Given the description of an element on the screen output the (x, y) to click on. 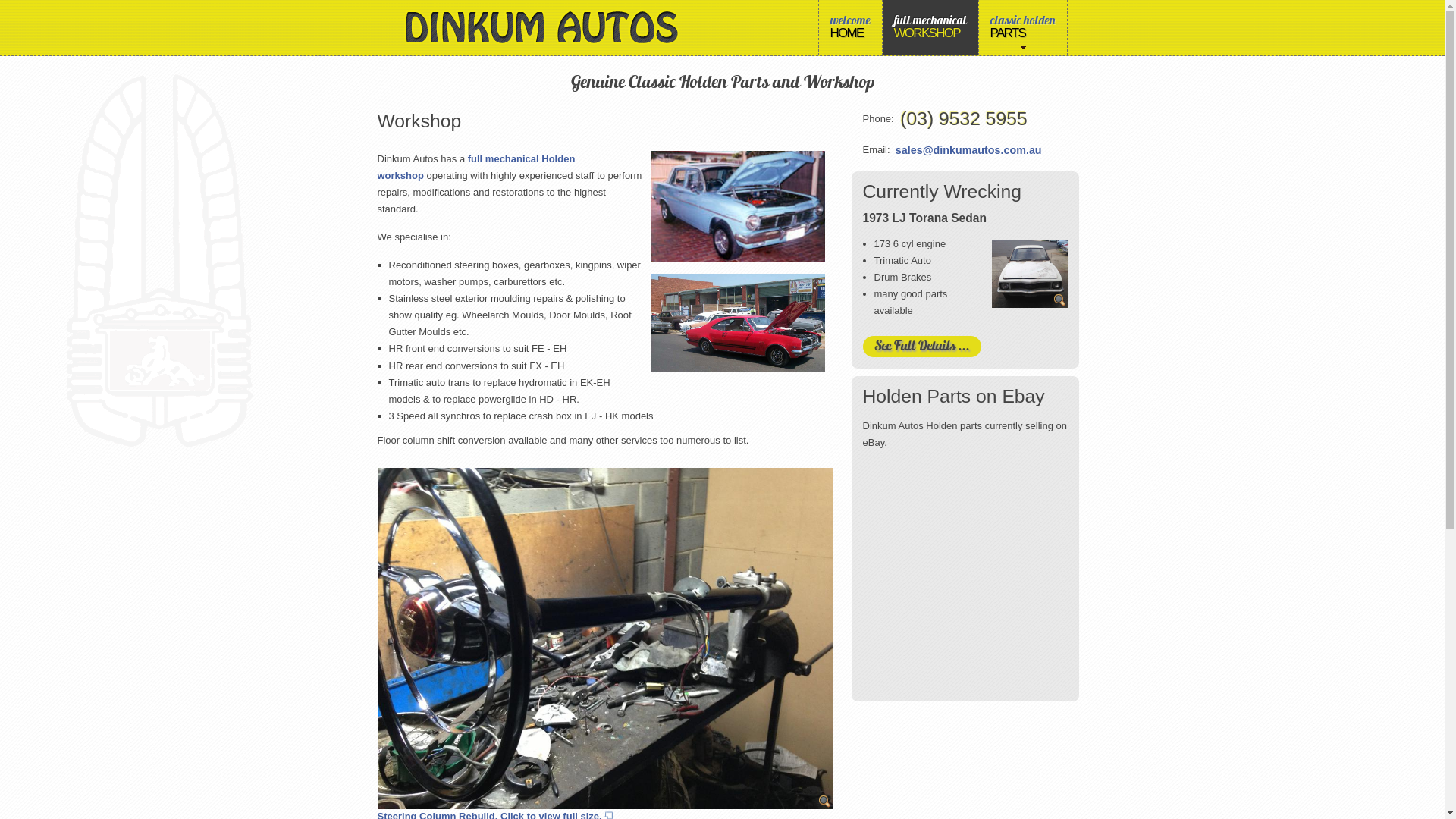
classic holden
PARTS Element type: text (1022, 27)
See Full Details ... Element type: text (921, 346)
full mechanical Holden workshop Element type: text (476, 167)
sales@dinkumautos.com.au Element type: text (968, 150)
full mechanical
WORKSHOP Element type: text (930, 27)
EH Holden 1963-65 Element type: hover (737, 206)
welcome
HOME Element type: text (850, 27)
Dinkum Autos Element type: hover (540, 27)
